Given the description of an element on the screen output the (x, y) to click on. 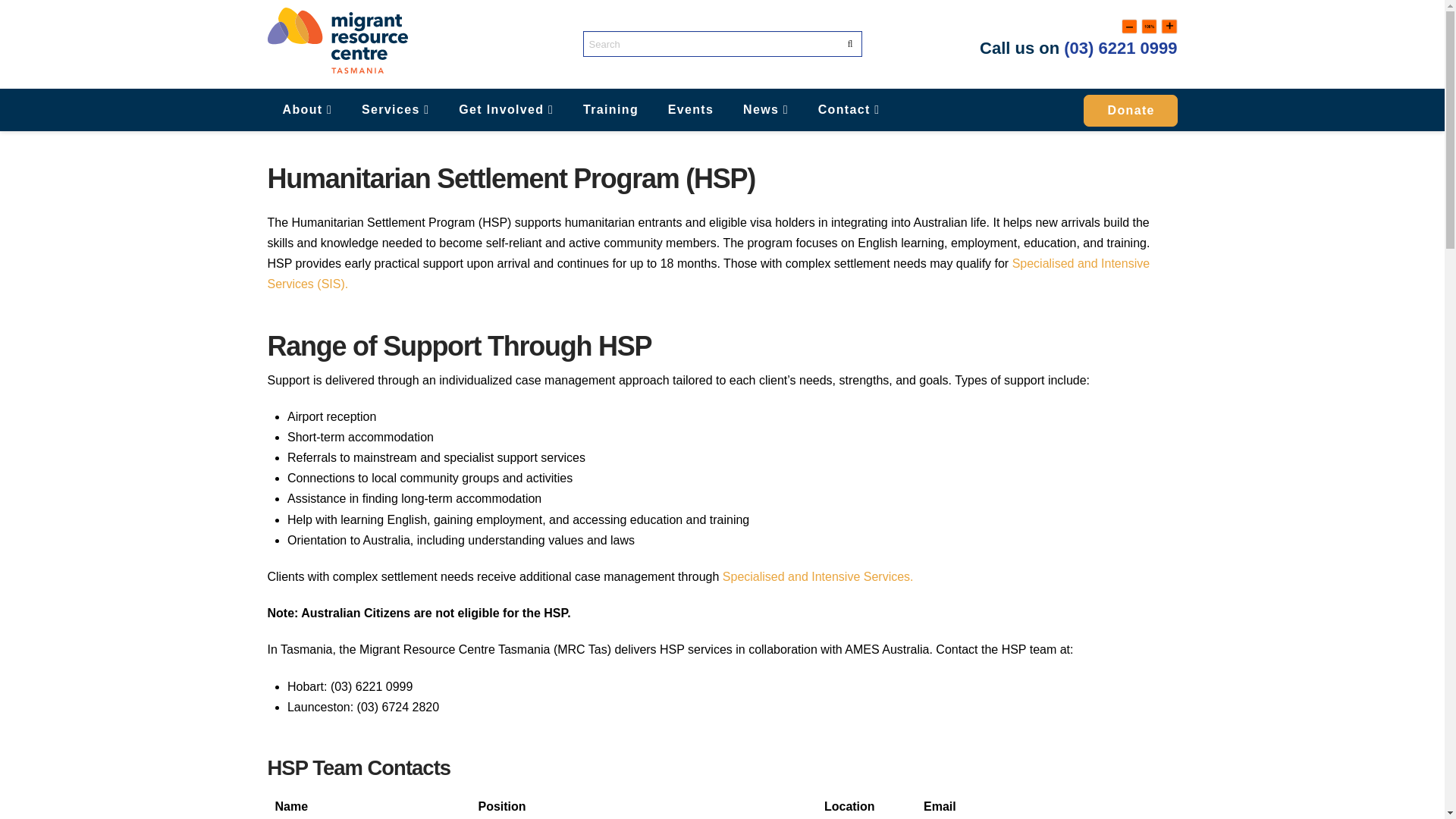
Get Involved (505, 109)
About (306, 109)
News (765, 109)
Contact (849, 109)
Services (395, 109)
Events (690, 109)
Training (609, 109)
